Given the description of an element on the screen output the (x, y) to click on. 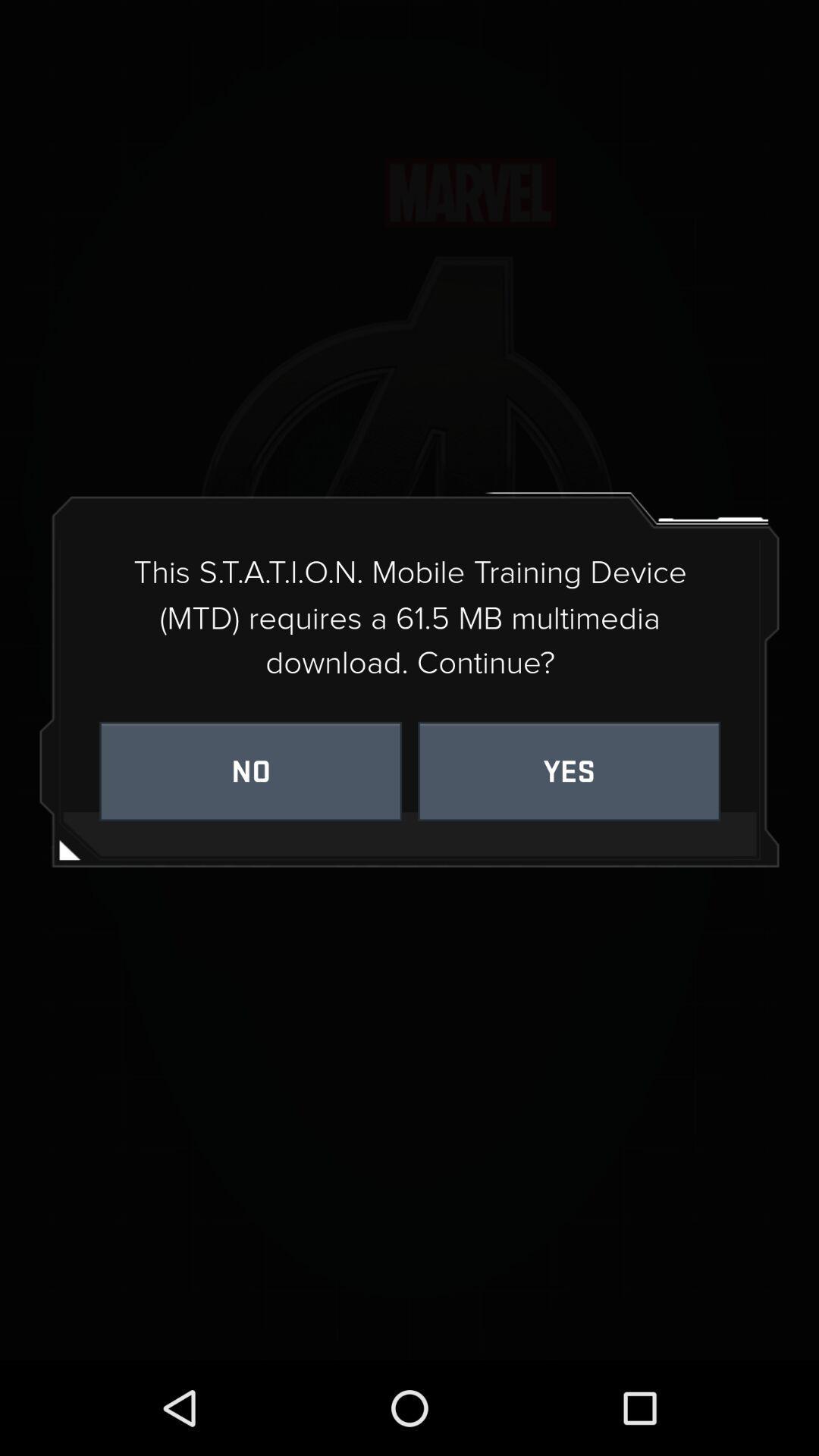
launch item to the right of no icon (569, 771)
